Given the description of an element on the screen output the (x, y) to click on. 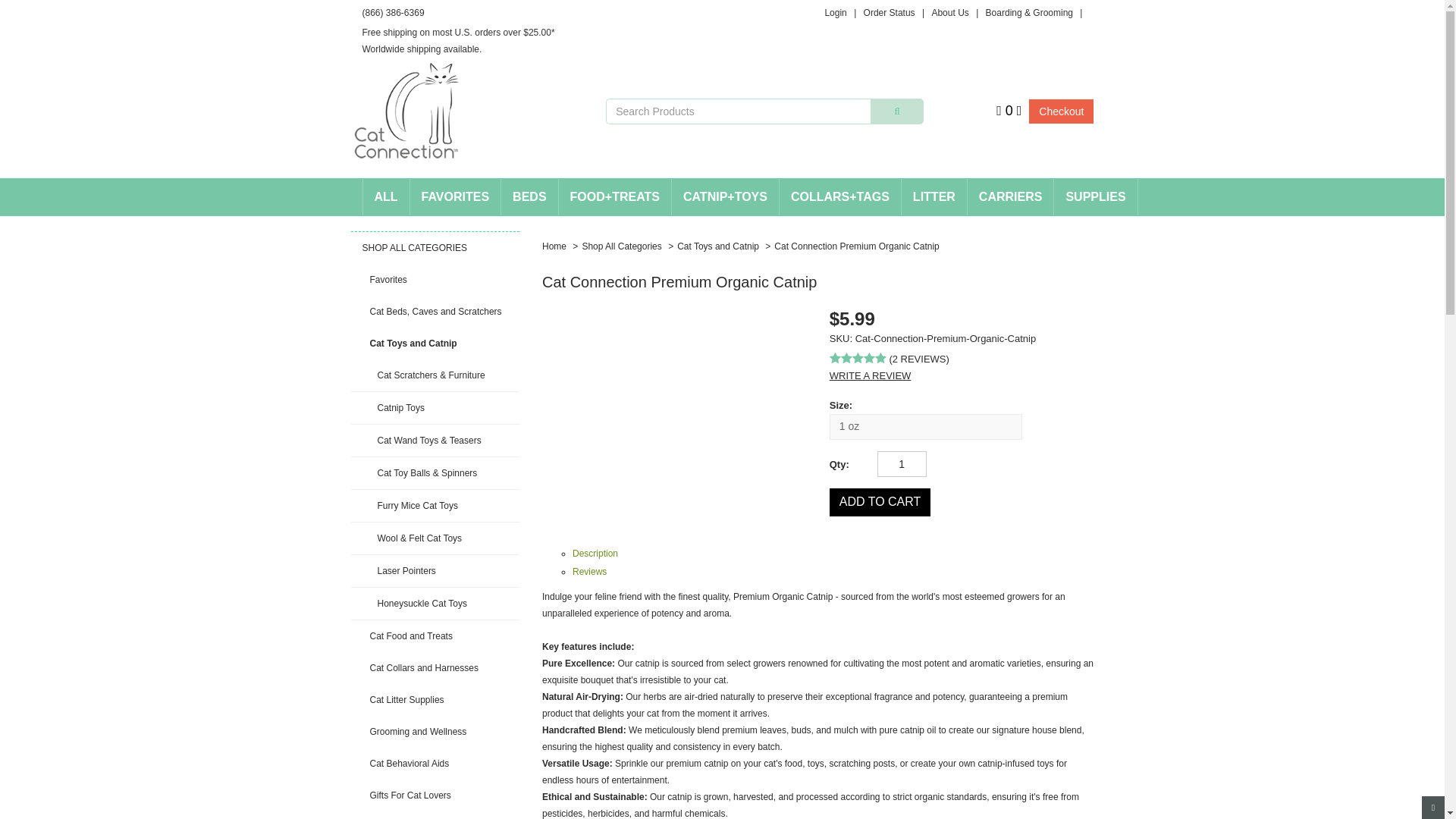
1 (901, 463)
Checkout (1061, 111)
ALL (385, 197)
0 (1008, 110)
CARRIERS (1011, 197)
BEDS (528, 197)
Login (834, 12)
SUPPLIES (1095, 197)
LITTER (933, 197)
About Us (949, 12)
Size: (961, 403)
FAVORITES (455, 197)
Quantity (842, 462)
Order Status (889, 12)
